Given the description of an element on the screen output the (x, y) to click on. 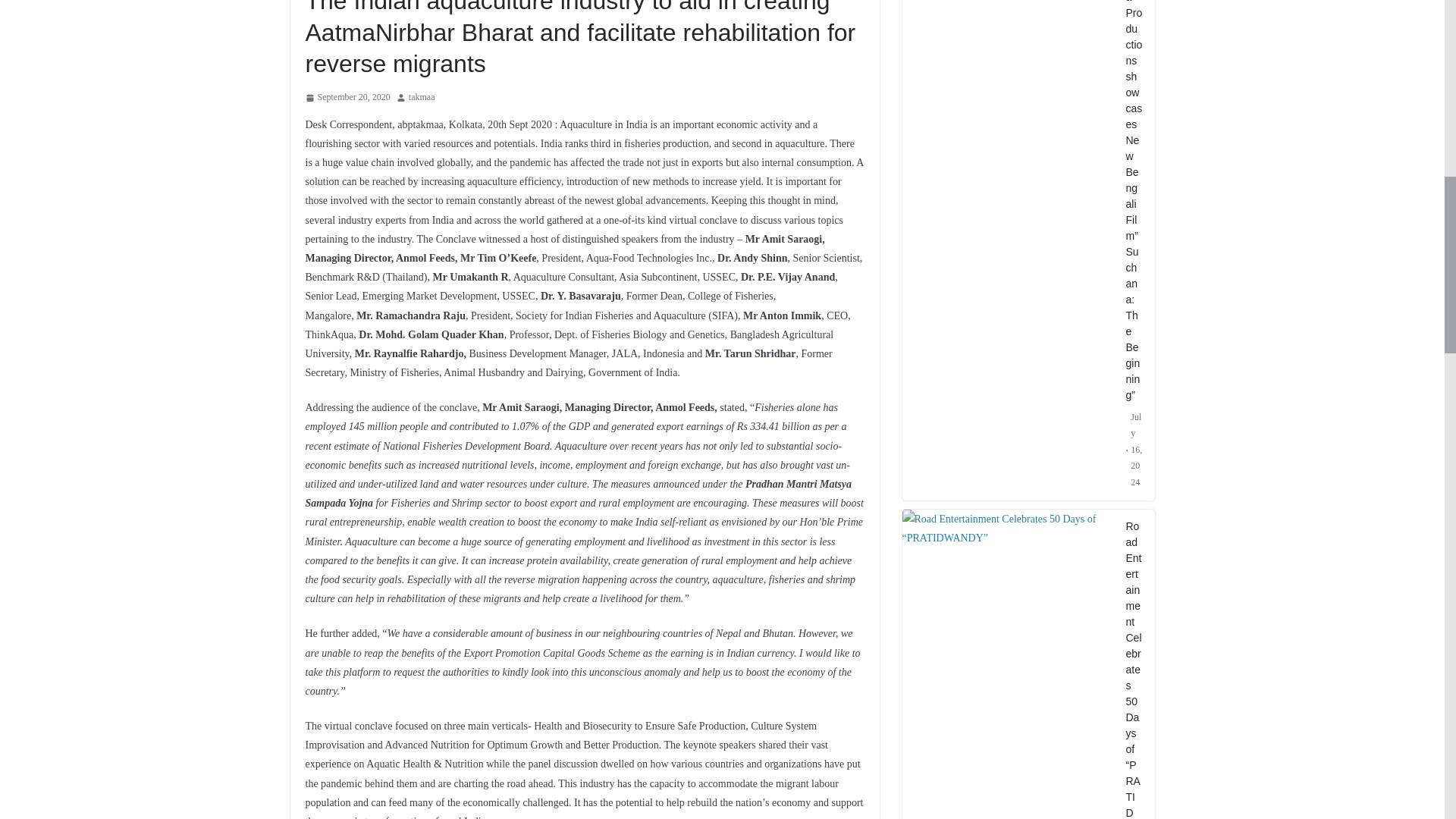
September 20, 2020 (347, 97)
takmaa (422, 97)
